Given the description of an element on the screen output the (x, y) to click on. 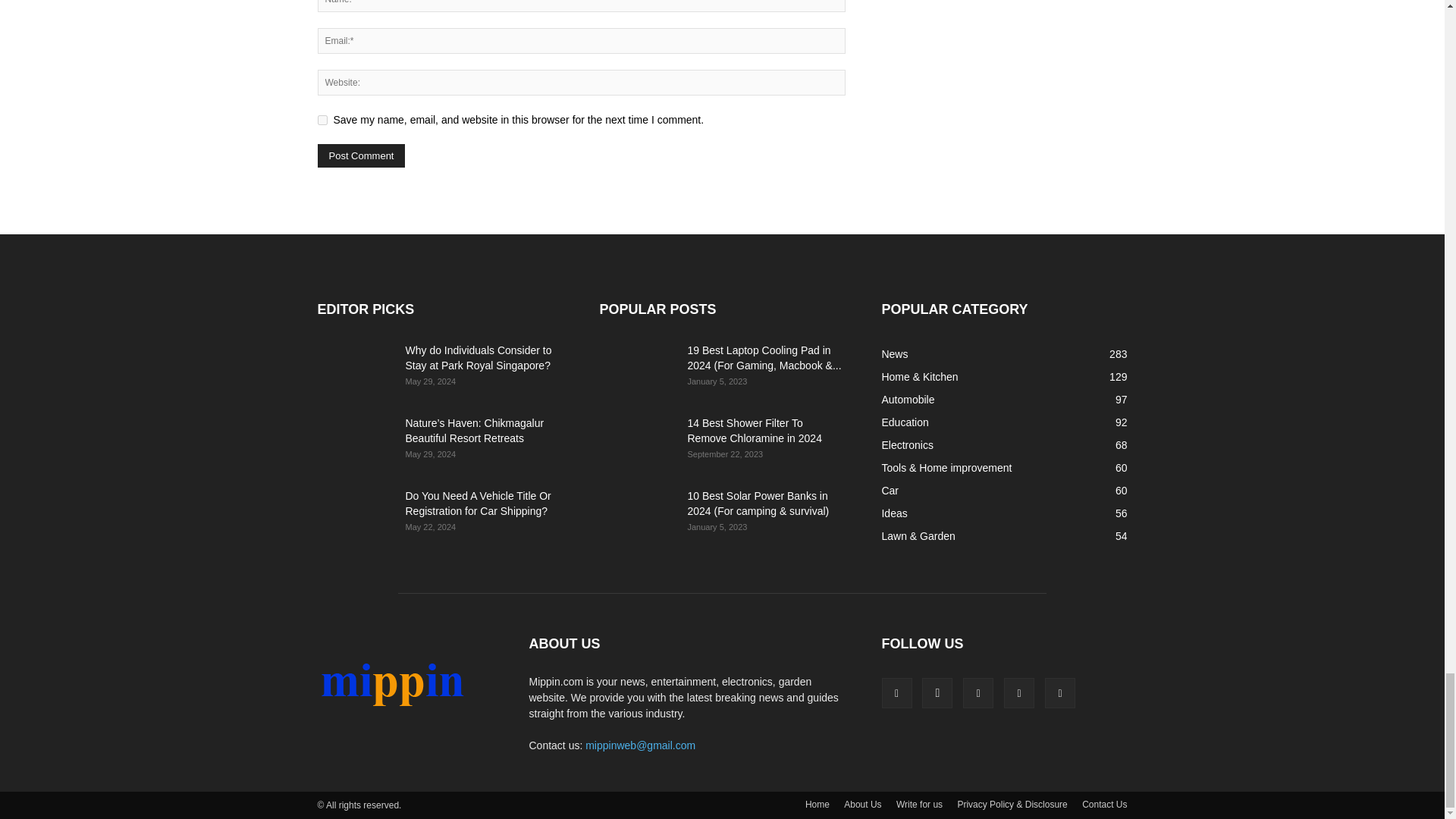
yes (321, 120)
Post Comment (360, 155)
